Given the description of an element on the screen output the (x, y) to click on. 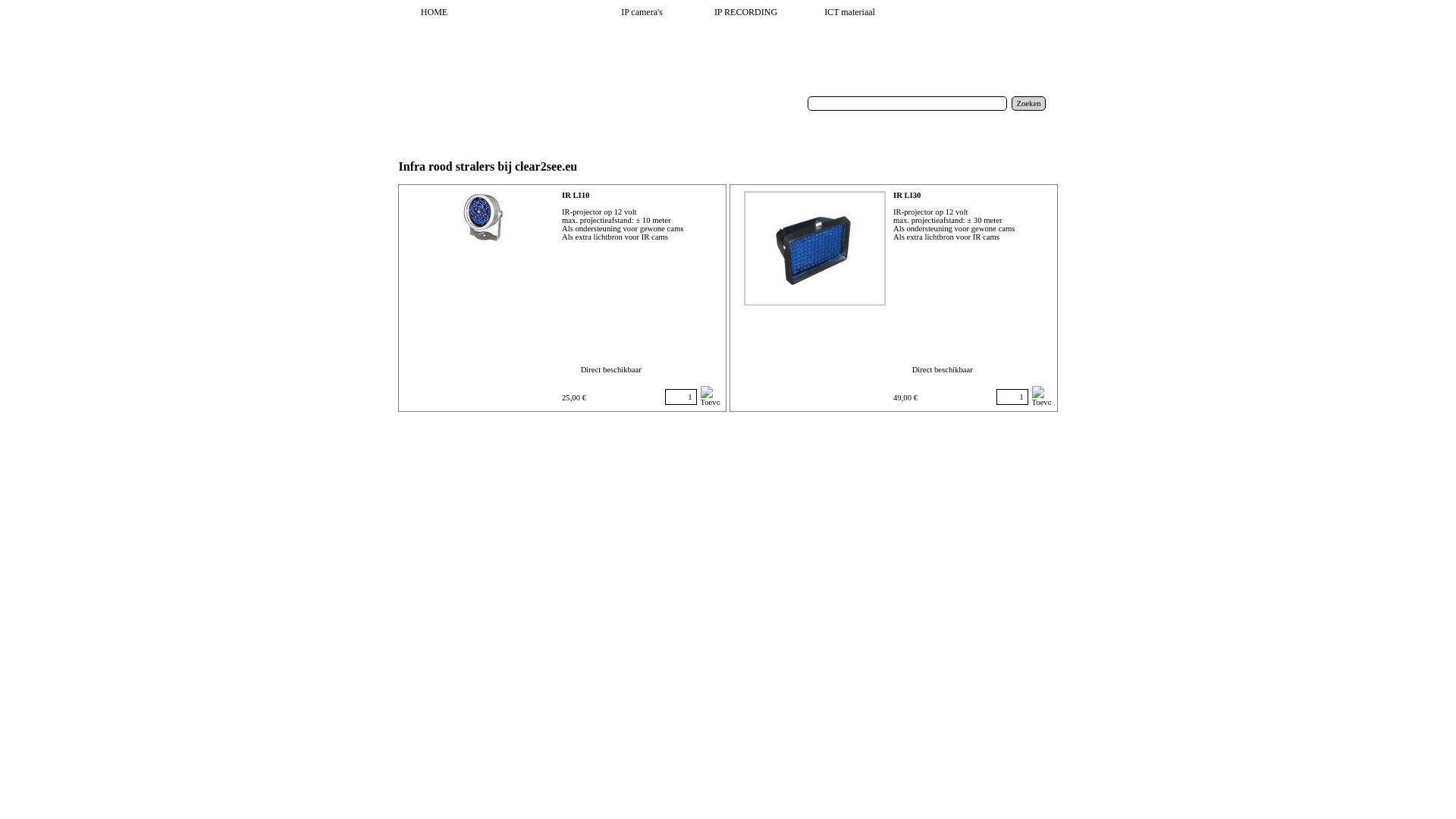
Toevoegen Element type: hover (1040, 394)
Toevoegen Element type: hover (709, 394)
IR LI30 Element type: hover (814, 248)
Zoeken Element type: text (1028, 103)
IR LI10 Element type: hover (482, 219)
HOME Element type: text (436, 12)
